Given the description of an element on the screen output the (x, y) to click on. 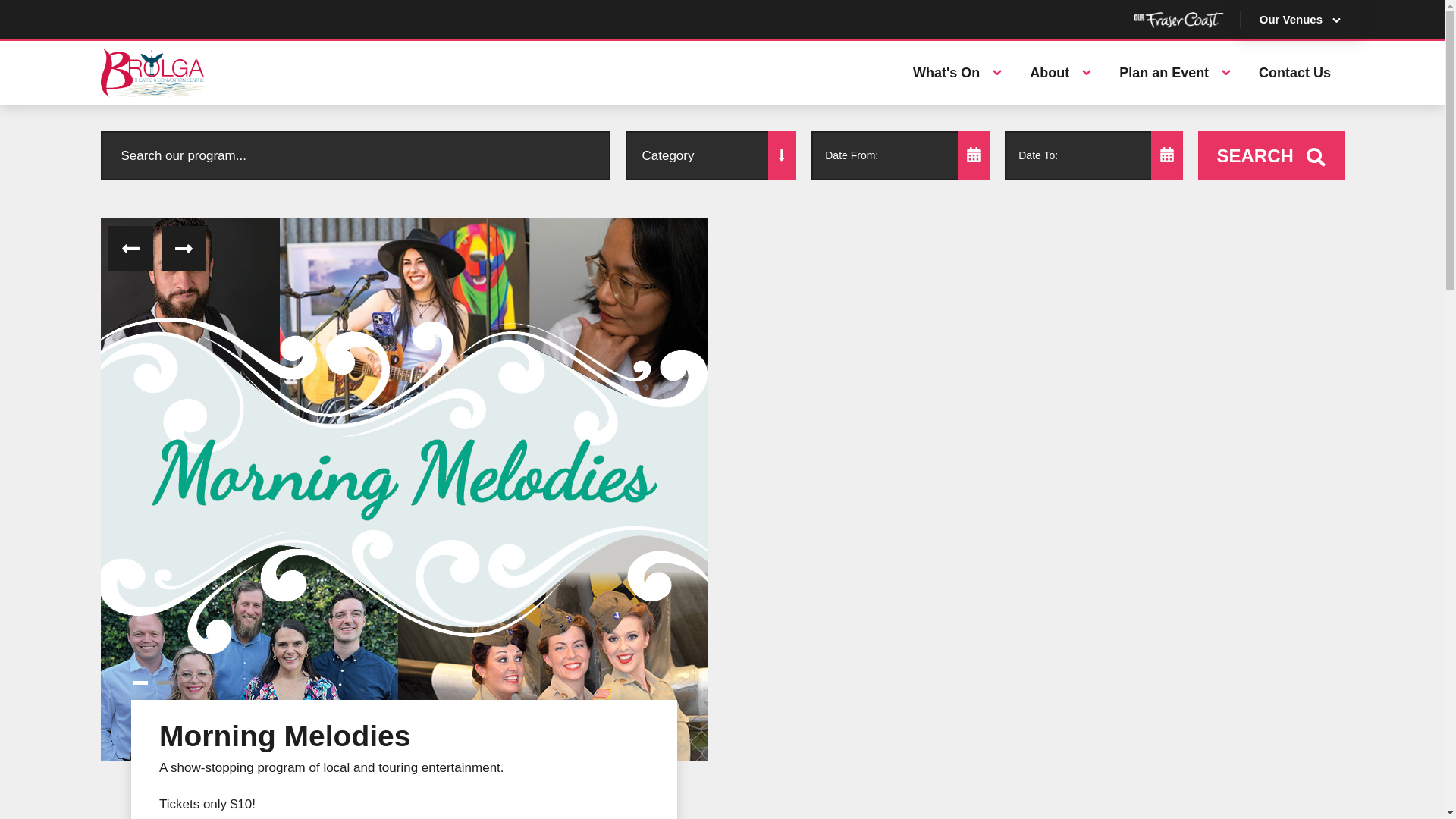
About (1040, 72)
Contact Us (1294, 72)
Category (711, 155)
Plan an Event (1154, 72)
Our Venues (1299, 19)
What's On (937, 72)
Brolga Theatre and Convention Centre (221, 72)
Our Fraser Coast (1178, 19)
